Given the description of an element on the screen output the (x, y) to click on. 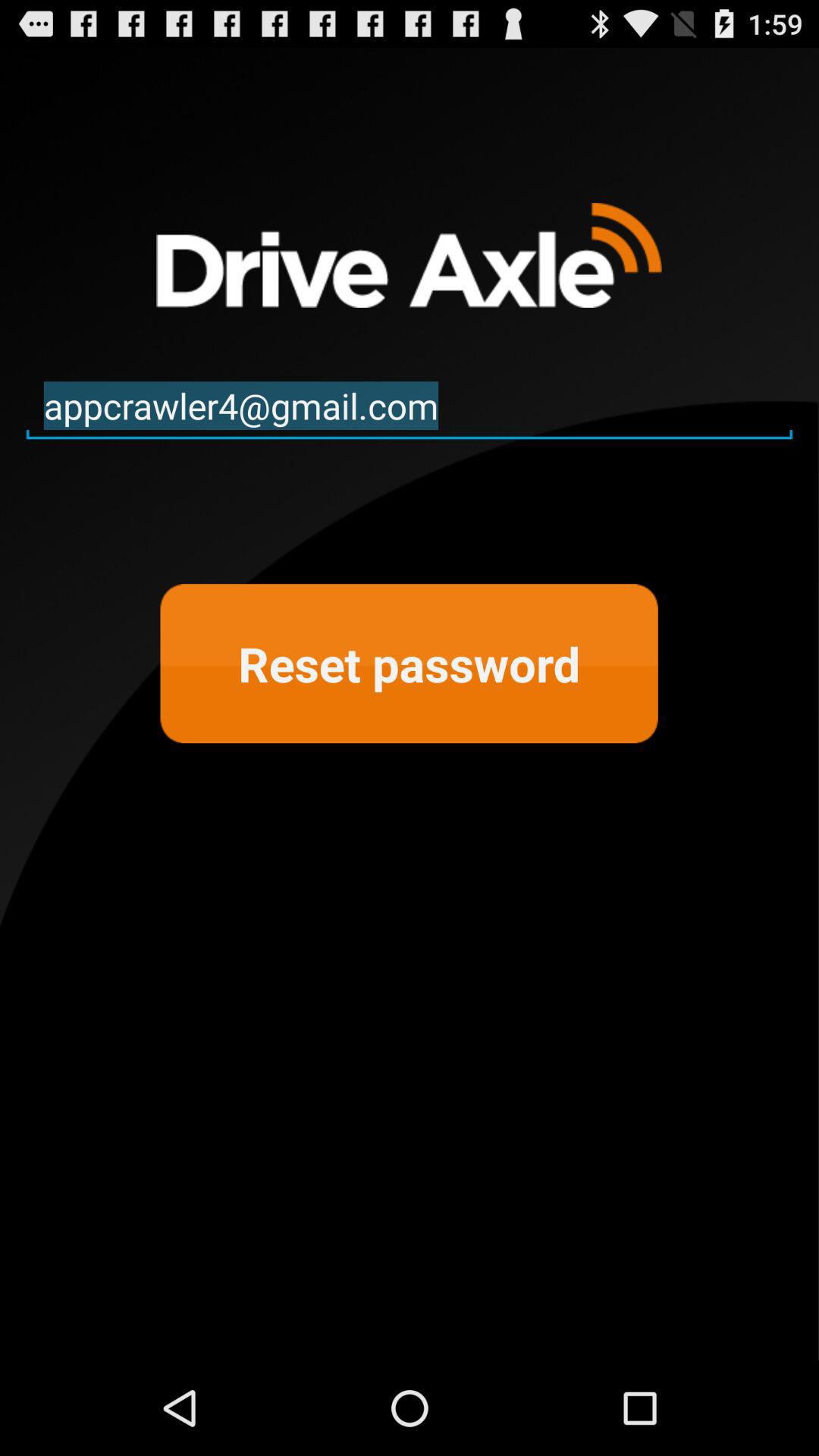
scroll to reset password button (409, 663)
